Given the description of an element on the screen output the (x, y) to click on. 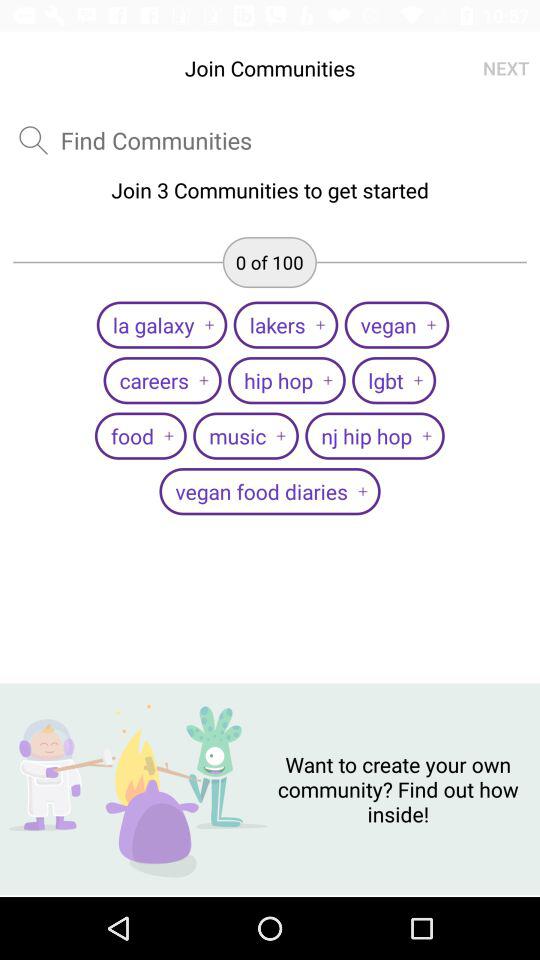
choose the next at the top right corner (506, 67)
